Given the description of an element on the screen output the (x, y) to click on. 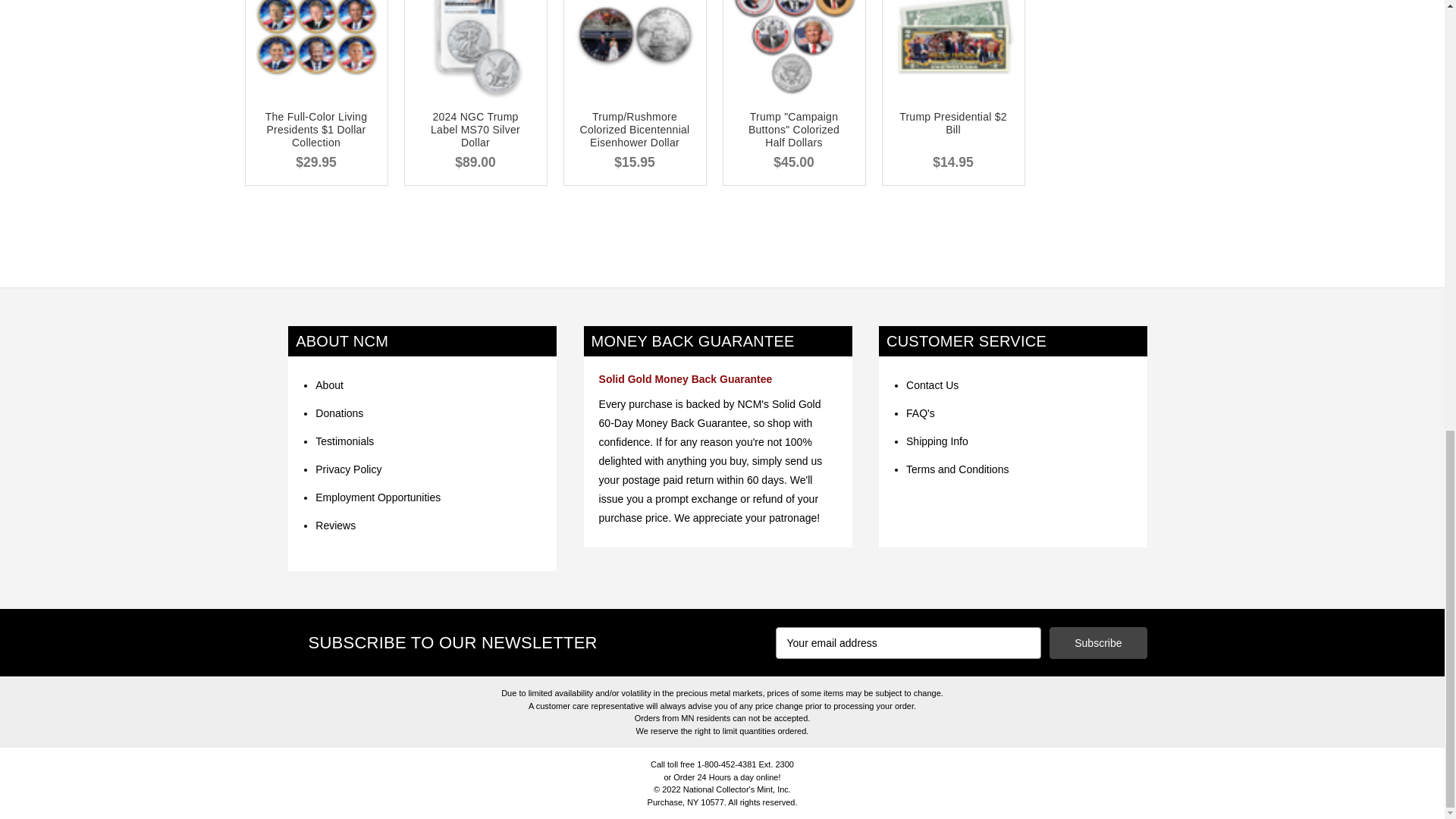
A picture of the 2024 NGC Trump Label MS70 Silver Dollar (475, 48)
Subscribe (1098, 643)
